Given the description of an element on the screen output the (x, y) to click on. 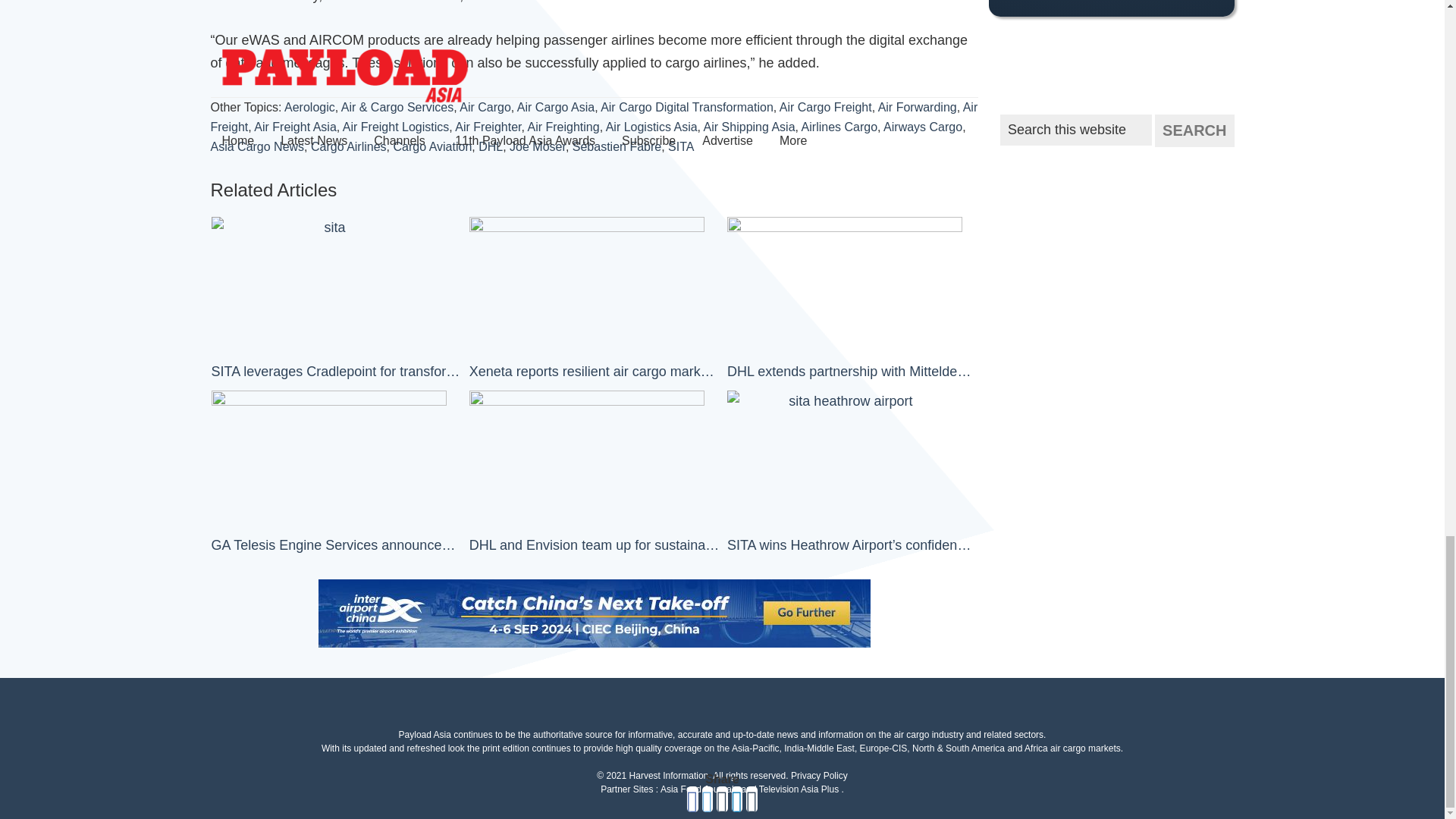
Aerologic (308, 106)
Air Cargo (485, 106)
